Given the description of an element on the screen output the (x, y) to click on. 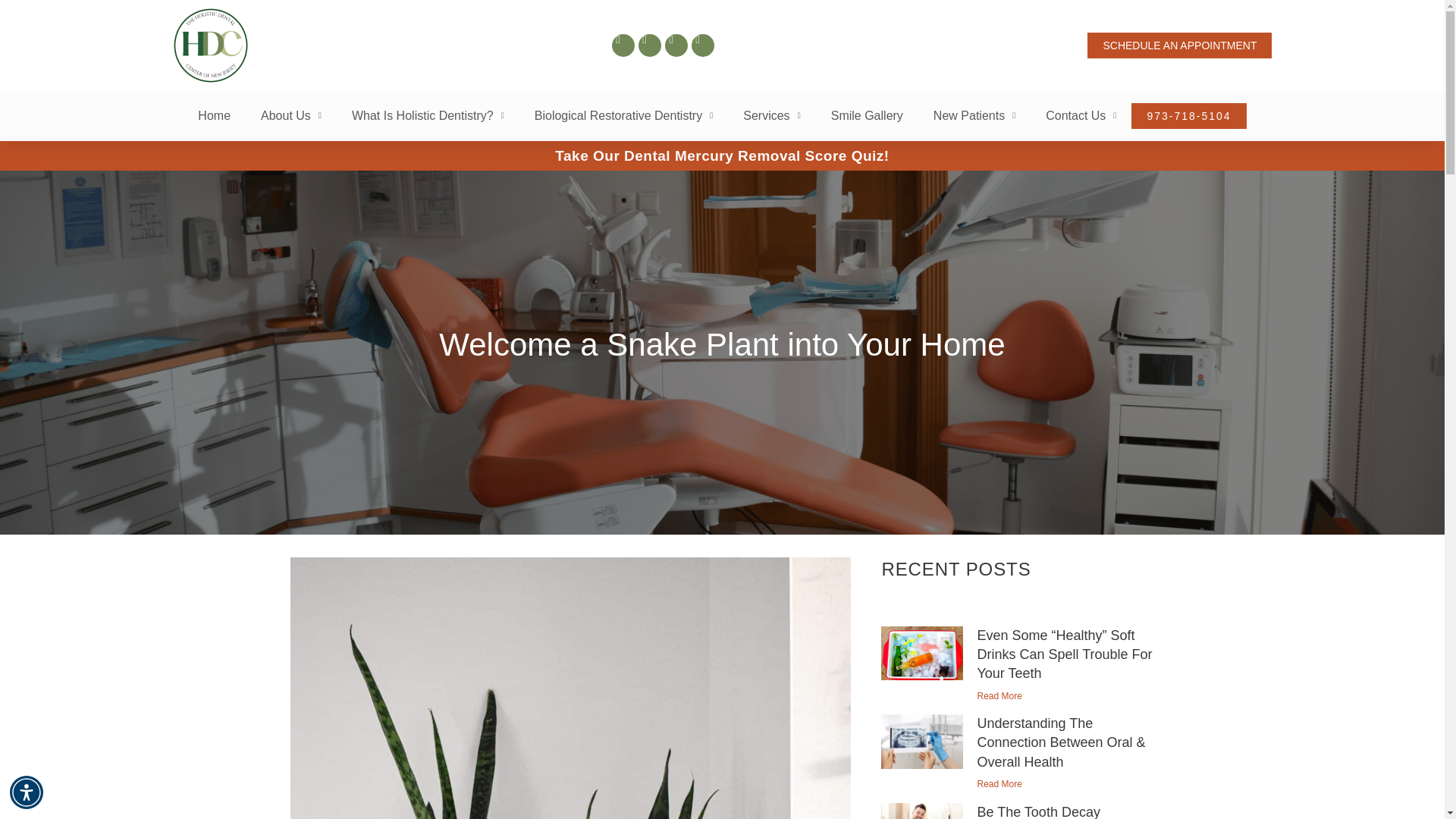
Accessibility Menu (26, 792)
